Given the description of an element on the screen output the (x, y) to click on. 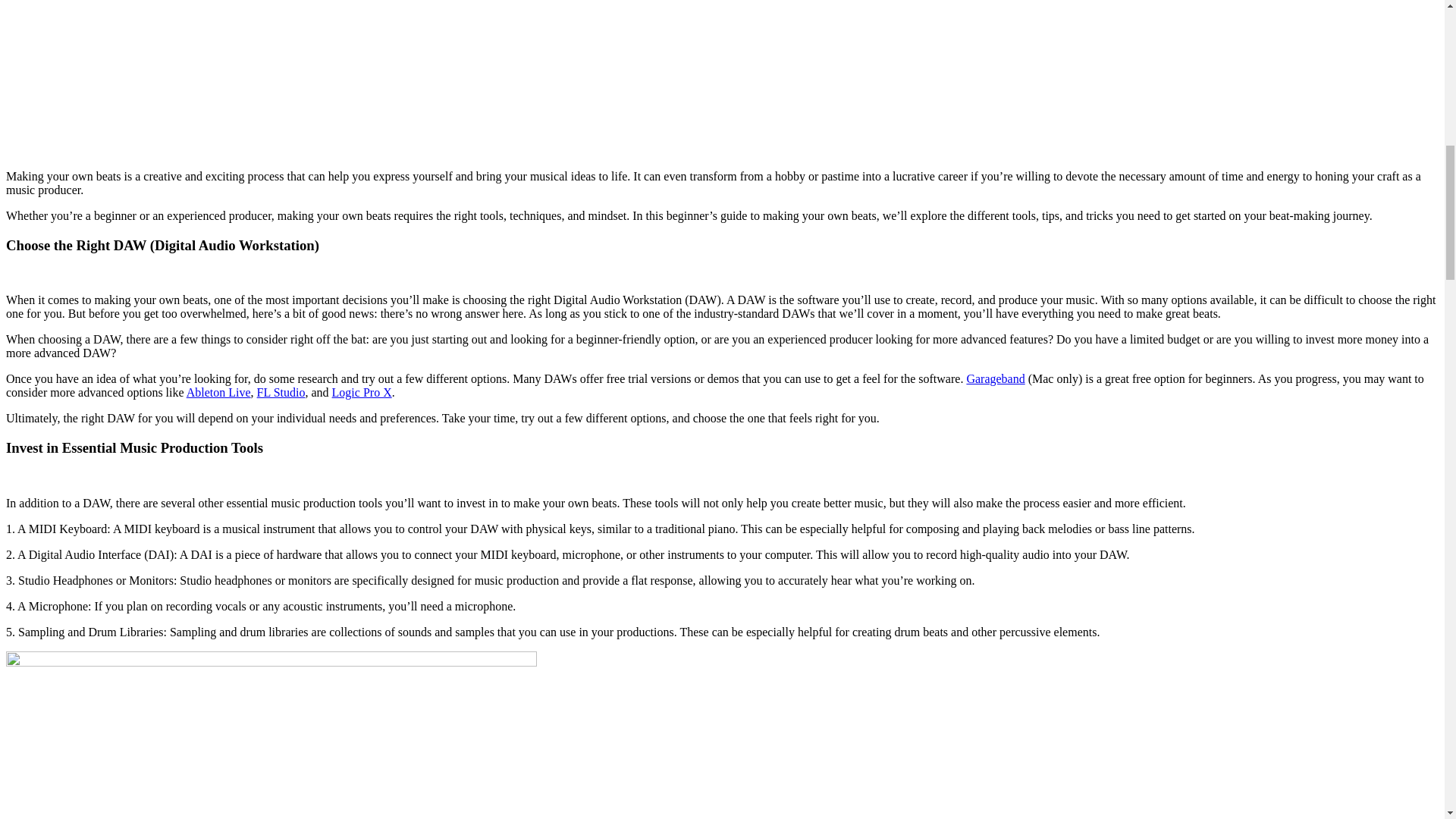
FL Studio (281, 391)
Logic Pro X (361, 391)
Garageband (995, 378)
Ableton Live (218, 391)
